Given the description of an element on the screen output the (x, y) to click on. 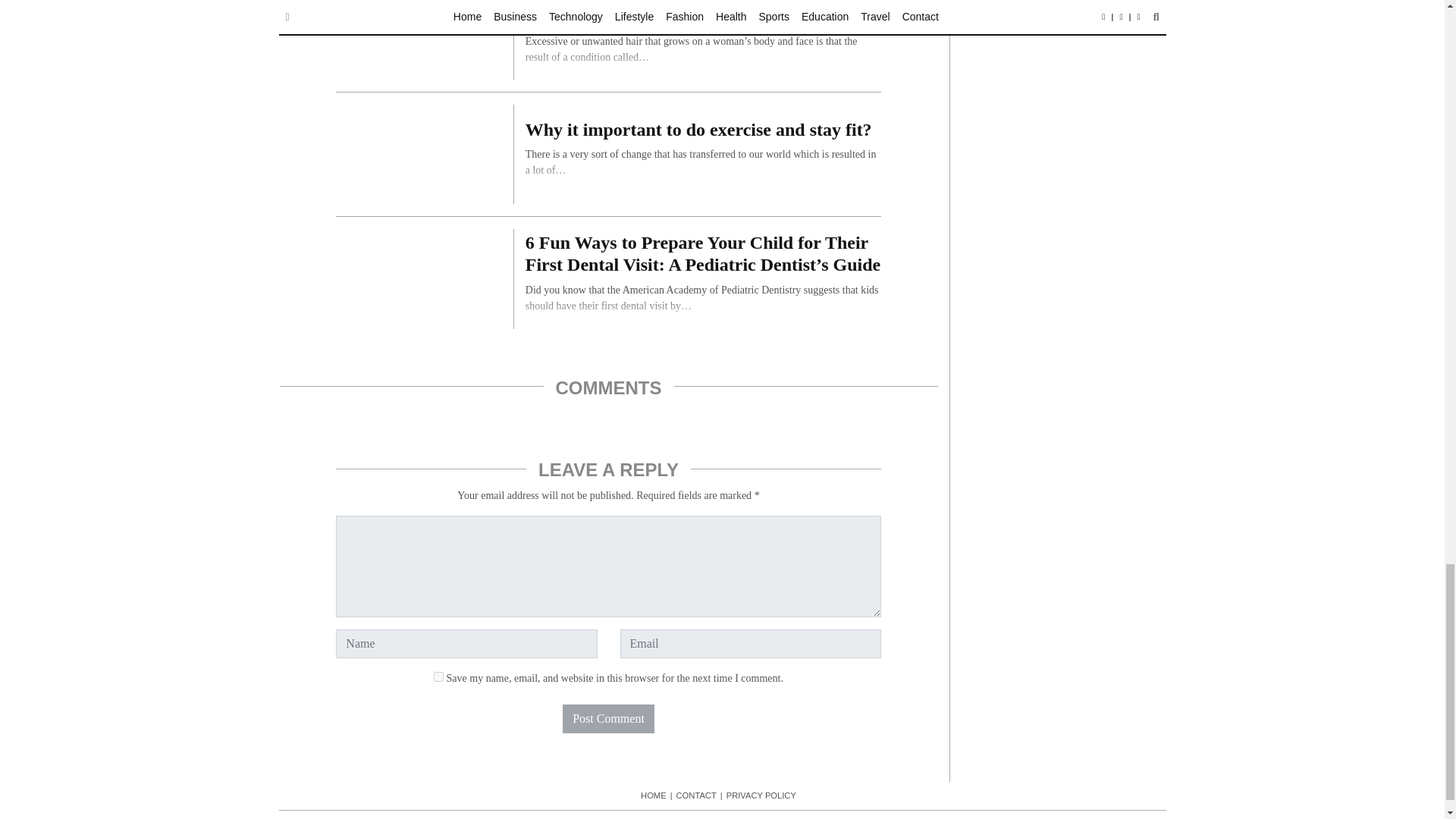
yes (438, 676)
Post Comment (607, 718)
